Given the description of an element on the screen output the (x, y) to click on. 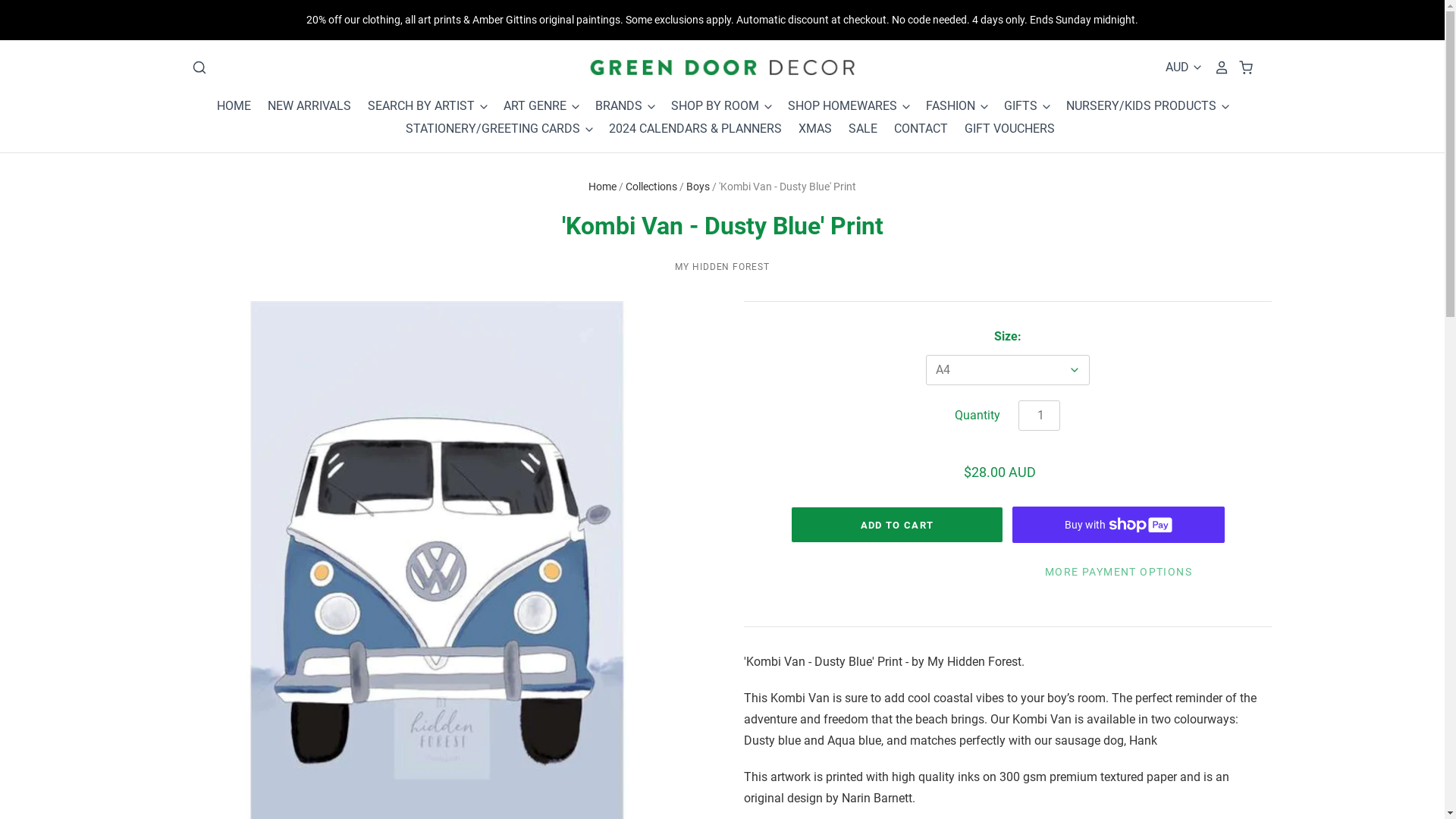
GIFTS Chevron down Icon Element type: text (1019, 105)
MORE PAYMENT OPTIONS Element type: text (1118, 571)
STATIONERY/GREETING CARDS Chevron down Icon Element type: text (492, 128)
NURSERY/KIDS PRODUCTS Chevron down Icon Element type: text (1140, 105)
NEW ARRIVALS Element type: text (301, 105)
GIFT VOUCHERS Element type: text (1000, 128)
BRANDS Chevron down Icon Element type: text (618, 105)
Add to cart Element type: text (896, 524)
MY HIDDEN FOREST Element type: text (721, 267)
XMAS Element type: text (807, 128)
Collections Element type: text (651, 186)
SHOP BY ROOM Chevron down Icon Element type: text (715, 105)
2024 CALENDARS & PLANNERS Element type: text (687, 128)
HOME Element type: text (233, 105)
Boys Element type: text (697, 186)
SHOP HOMEWARES Chevron down Icon Element type: text (842, 105)
CONTACT Element type: text (913, 128)
ART GENRE Chevron down Icon Element type: text (533, 105)
SALE Element type: text (855, 128)
Home Element type: text (602, 186)
SEARCH BY ARTIST Chevron down Icon Element type: text (420, 105)
FASHION Chevron down Icon Element type: text (950, 105)
